Given the description of an element on the screen output the (x, y) to click on. 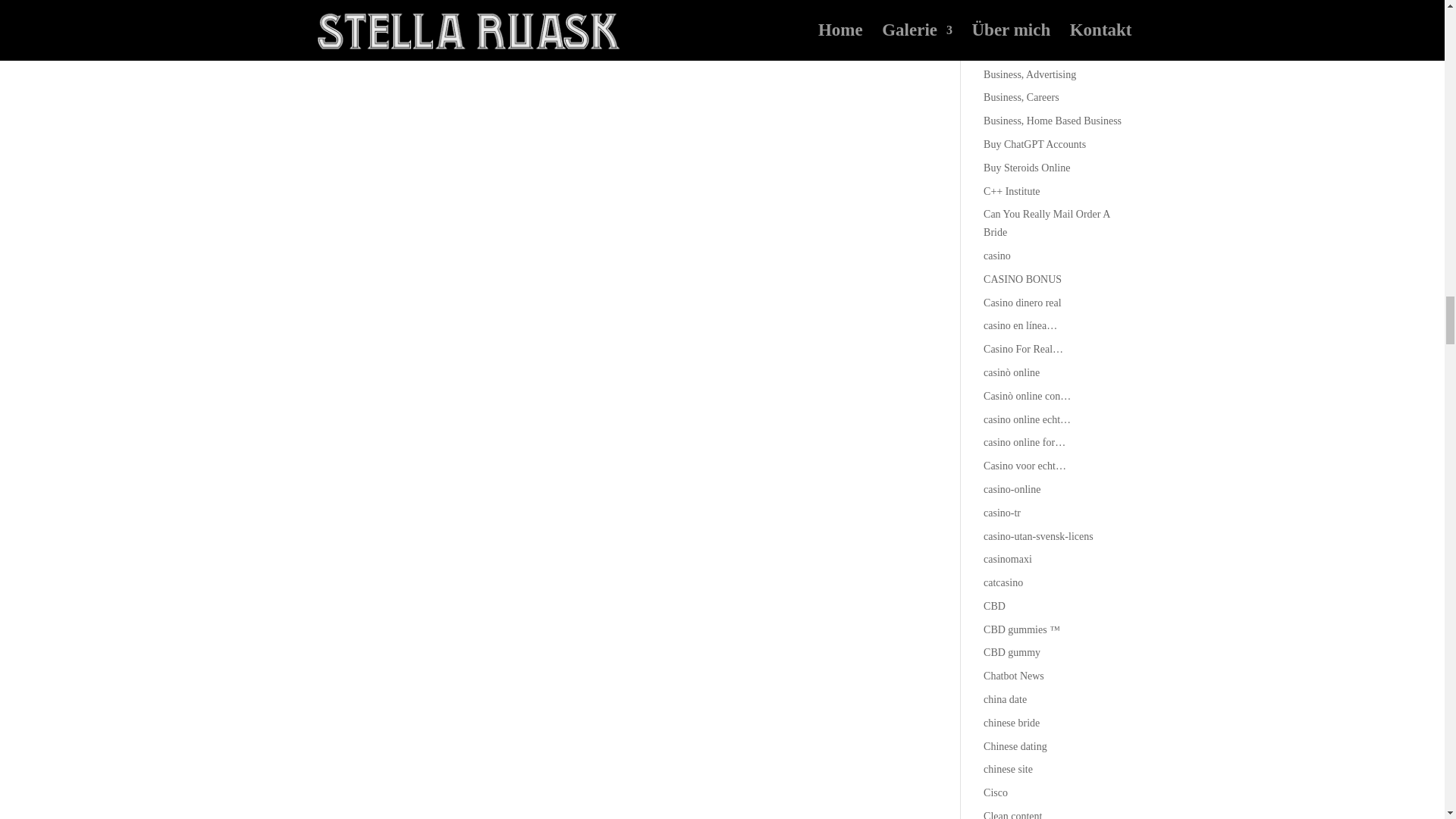
Business, Advertising (1029, 74)
Business, Home Based Business (1052, 120)
Business, Careers (1021, 97)
